Given the description of an element on the screen output the (x, y) to click on. 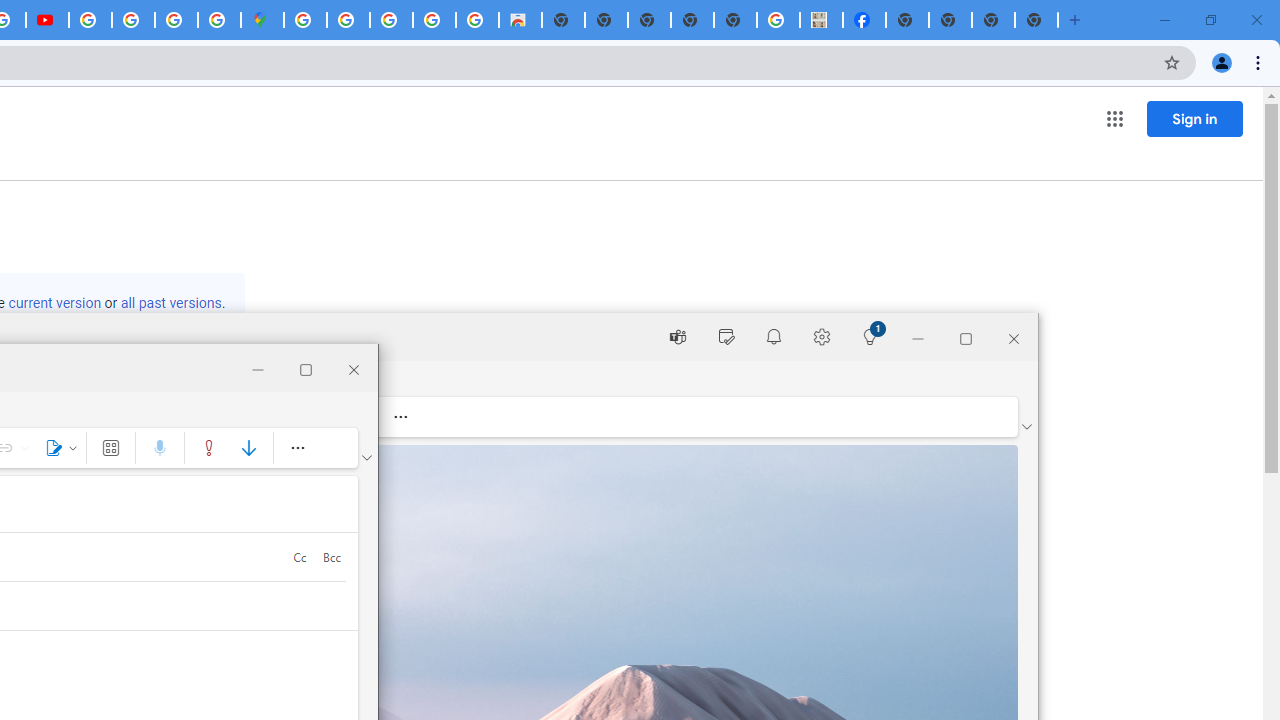
My Day (725, 336)
Maximize (305, 367)
Dictate (159, 447)
Ribbon display options (367, 457)
Link (24, 447)
Bcc (332, 556)
Low importance (248, 447)
Tips, 1 unread items (869, 336)
Notifications (773, 336)
High importance (209, 447)
Cc (300, 556)
More options (297, 447)
